Given the description of an element on the screen output the (x, y) to click on. 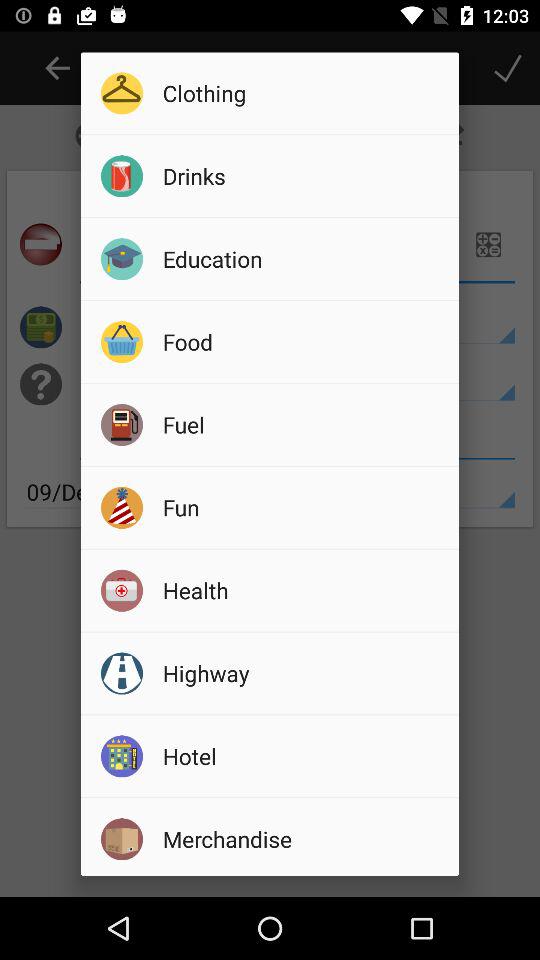
open icon above highway icon (303, 590)
